Given the description of an element on the screen output the (x, y) to click on. 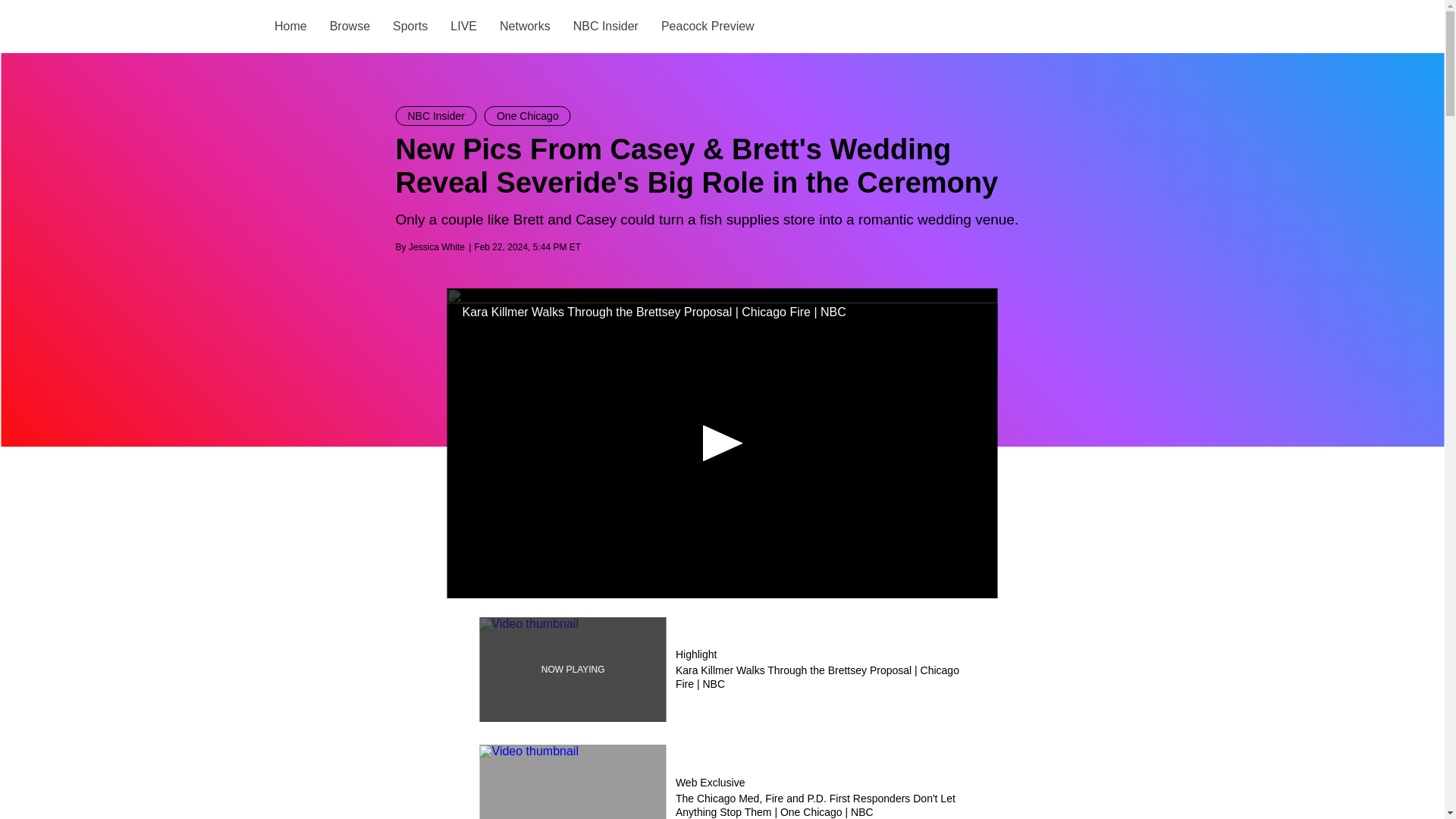
NBC Insider (604, 26)
LIVE (463, 26)
Browse (349, 26)
One Chicago (527, 116)
Peacock Preview (707, 26)
Home (291, 26)
Sports (410, 26)
NBC (239, 26)
Networks (524, 26)
